Given the description of an element on the screen output the (x, y) to click on. 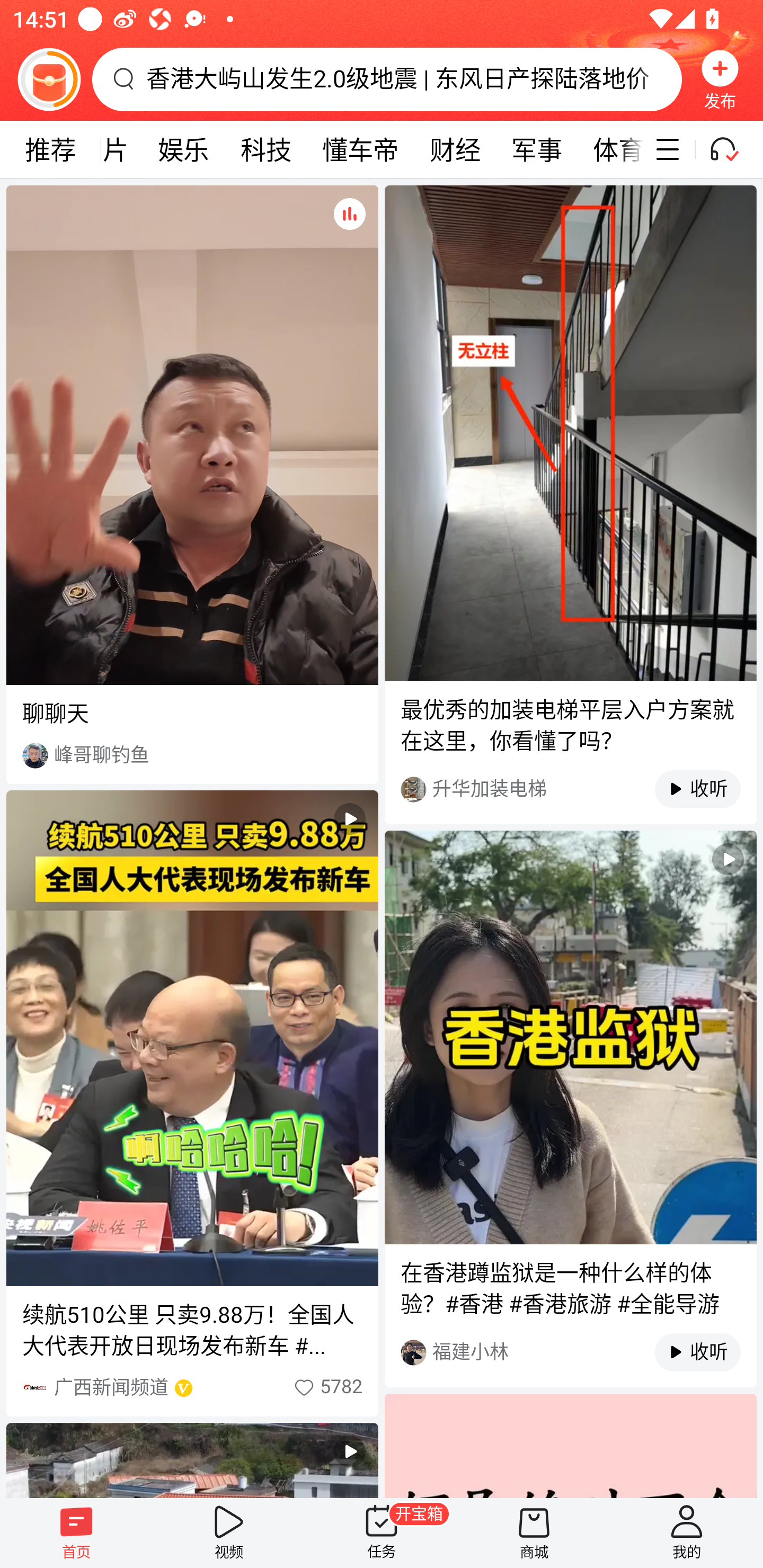
阅读赚金币 (48, 79)
发布 发布，按钮 (720, 78)
推荐 (49, 149)
娱乐 (183, 149)
科技 (265, 149)
懂车帝 (360, 149)
财经 (454, 149)
军事 (536, 149)
体育 (610, 149)
听一听开关 (732, 149)
聊聊天  作者,峰哥聊钓鱼,按钮 峰哥聊钓鱼 (192, 484)
最优秀的加装电梯平层入户方案就在这里，你看懂了吗？  作者,升华加装电梯,按钮 升华加装电梯 收听 (570, 504)
作者,升华加装电梯,按钮 升华加装电梯 收听 (570, 789)
收听 (687, 789)
作者,福建小林,按钮 福建小林 收听 (570, 1352)
收听 (687, 1352)
作者,广西新闻频道,认证用户 按钮 广西新闻频道 赞5782 赞 (192, 1387)
首页 (76, 1532)
视频 (228, 1532)
任务 开宝箱 (381, 1532)
商城 (533, 1532)
我的 (686, 1532)
